Given the description of an element on the screen output the (x, y) to click on. 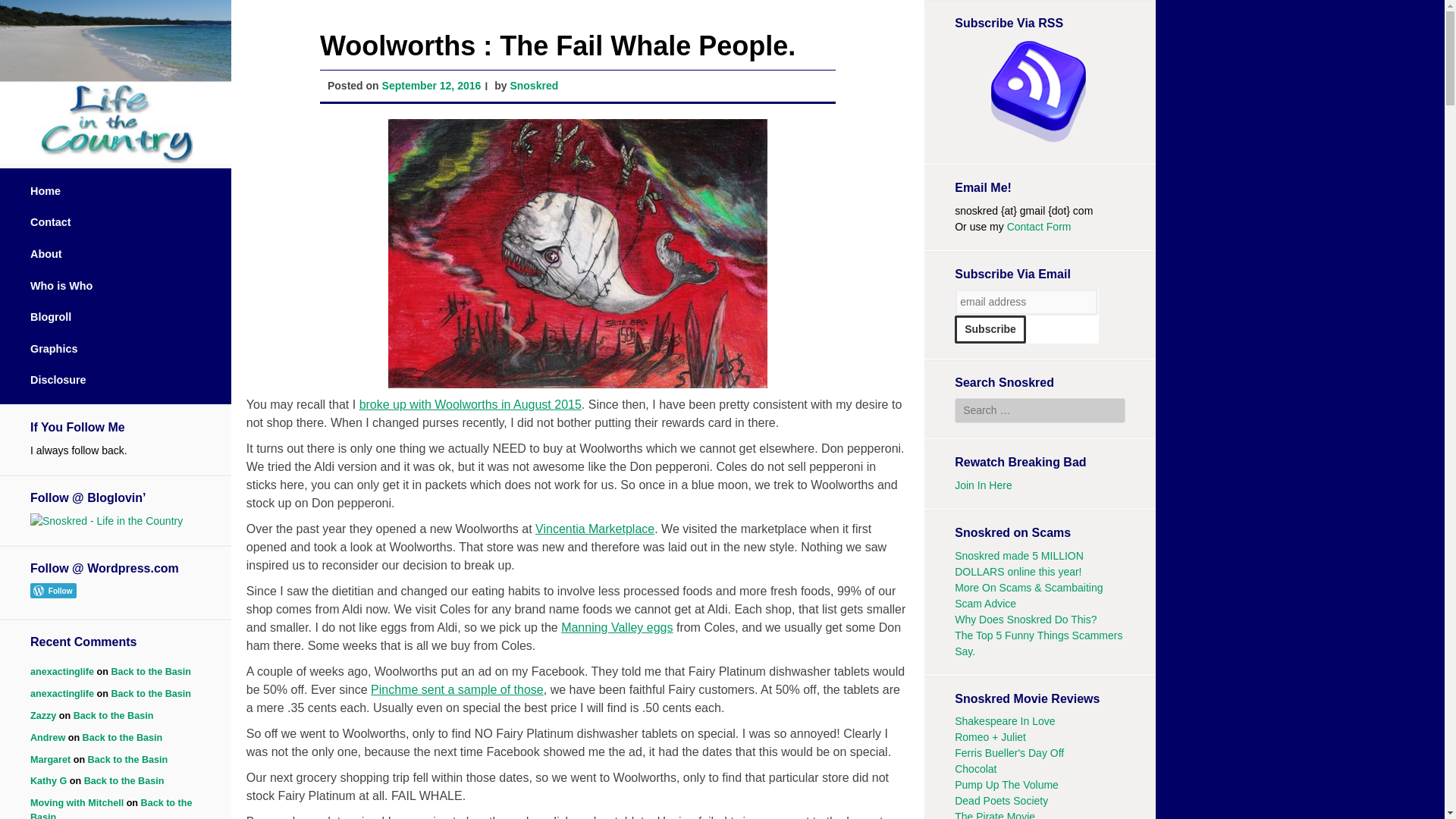
Subscribe (990, 329)
